Given the description of an element on the screen output the (x, y) to click on. 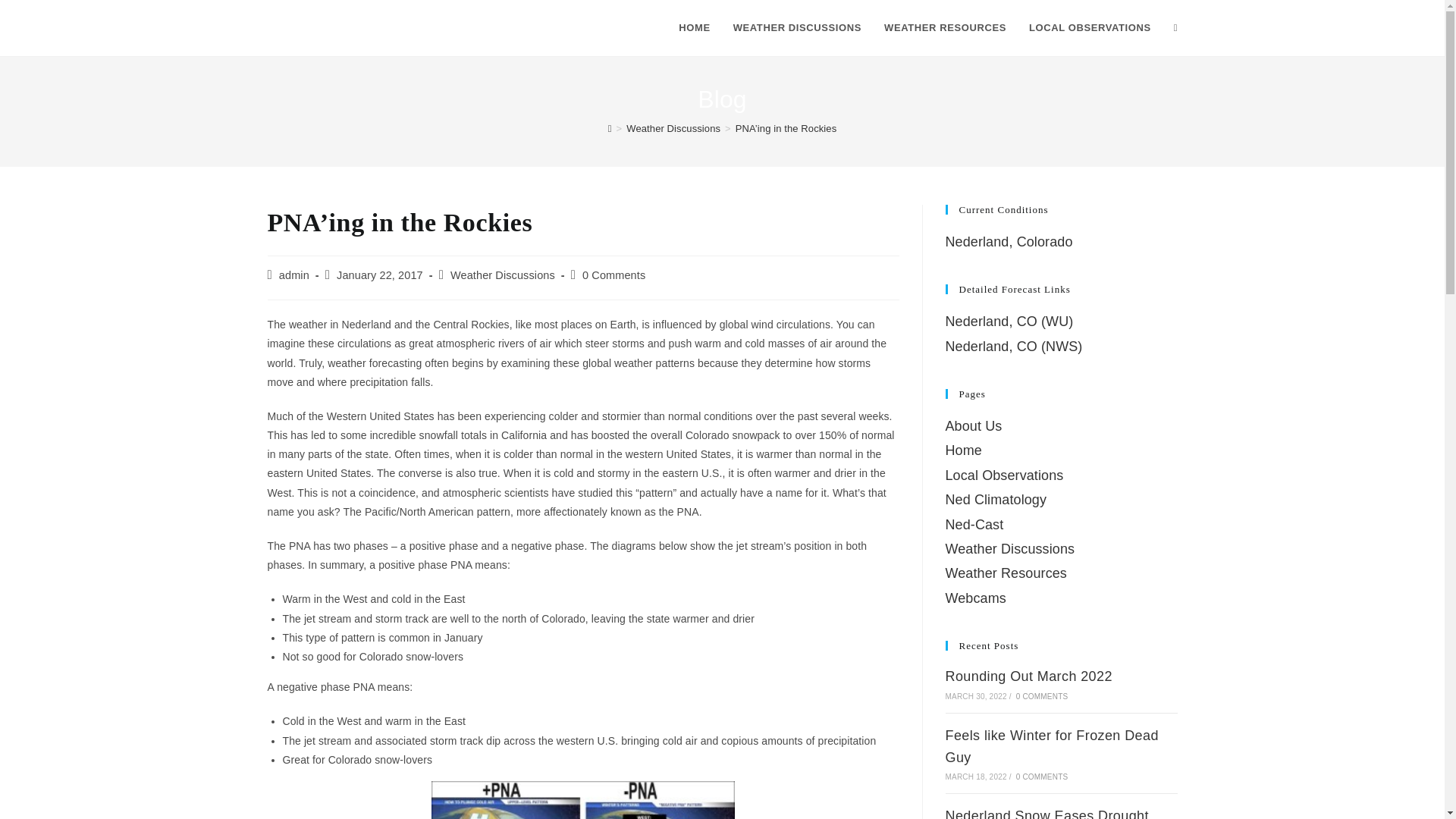
Weather Discussions (501, 275)
admin (293, 275)
LOCAL OBSERVATIONS (1089, 28)
Weather Discussions (673, 128)
WEATHER RESOURCES (944, 28)
Indian Peaks Weather (356, 27)
Posts by admin (293, 275)
0 Comments (613, 275)
HOME (693, 28)
WEATHER DISCUSSIONS (797, 28)
